Given the description of an element on the screen output the (x, y) to click on. 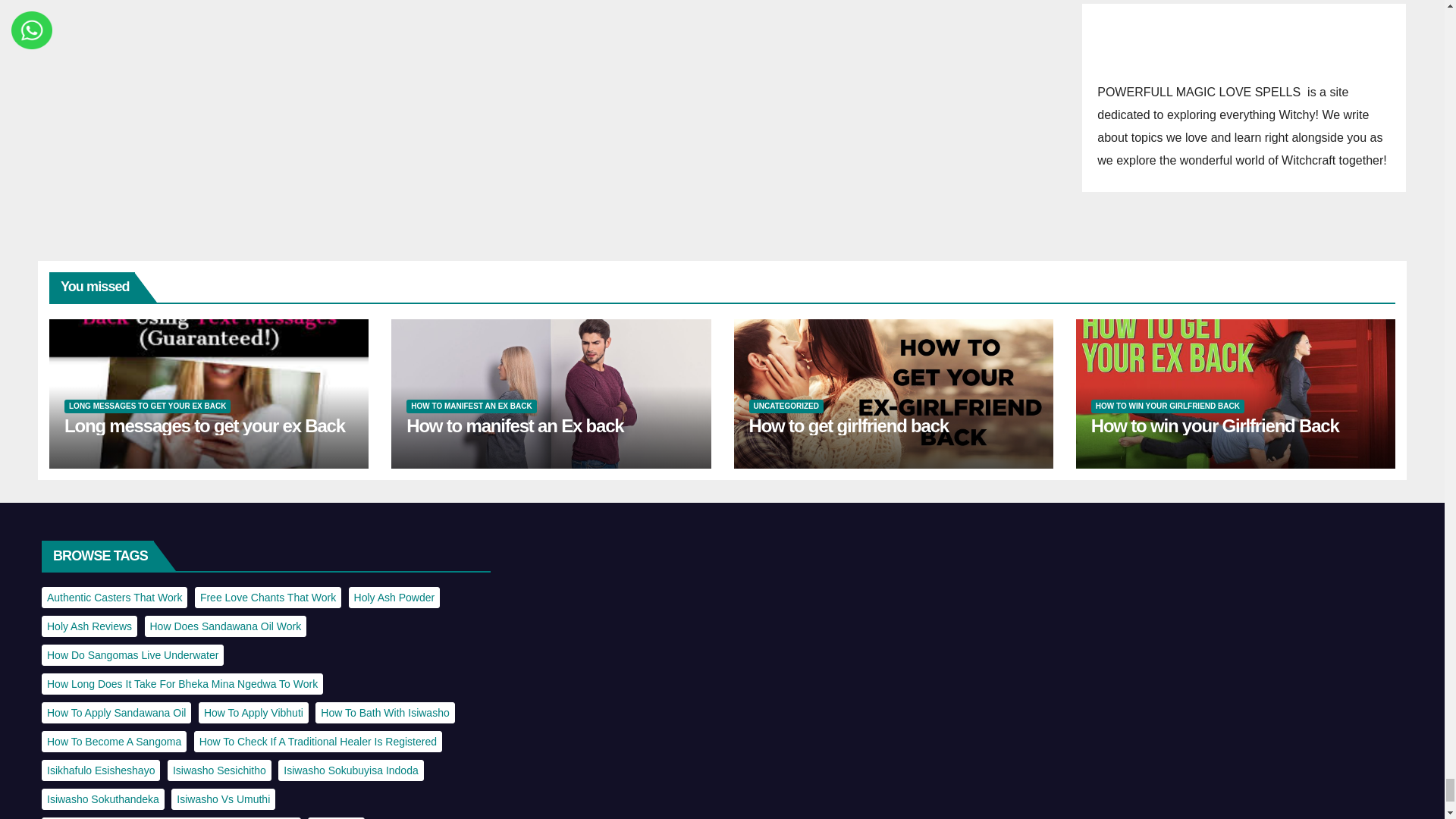
Permalink to: How to manifest an Ex back (514, 425)
Permalink to: Long messages to get your ex Back (204, 425)
Permalink to: How to win your Girlfriend Back (1214, 425)
Permalink to: How to get girlfriend back (849, 425)
